Given the description of an element on the screen output the (x, y) to click on. 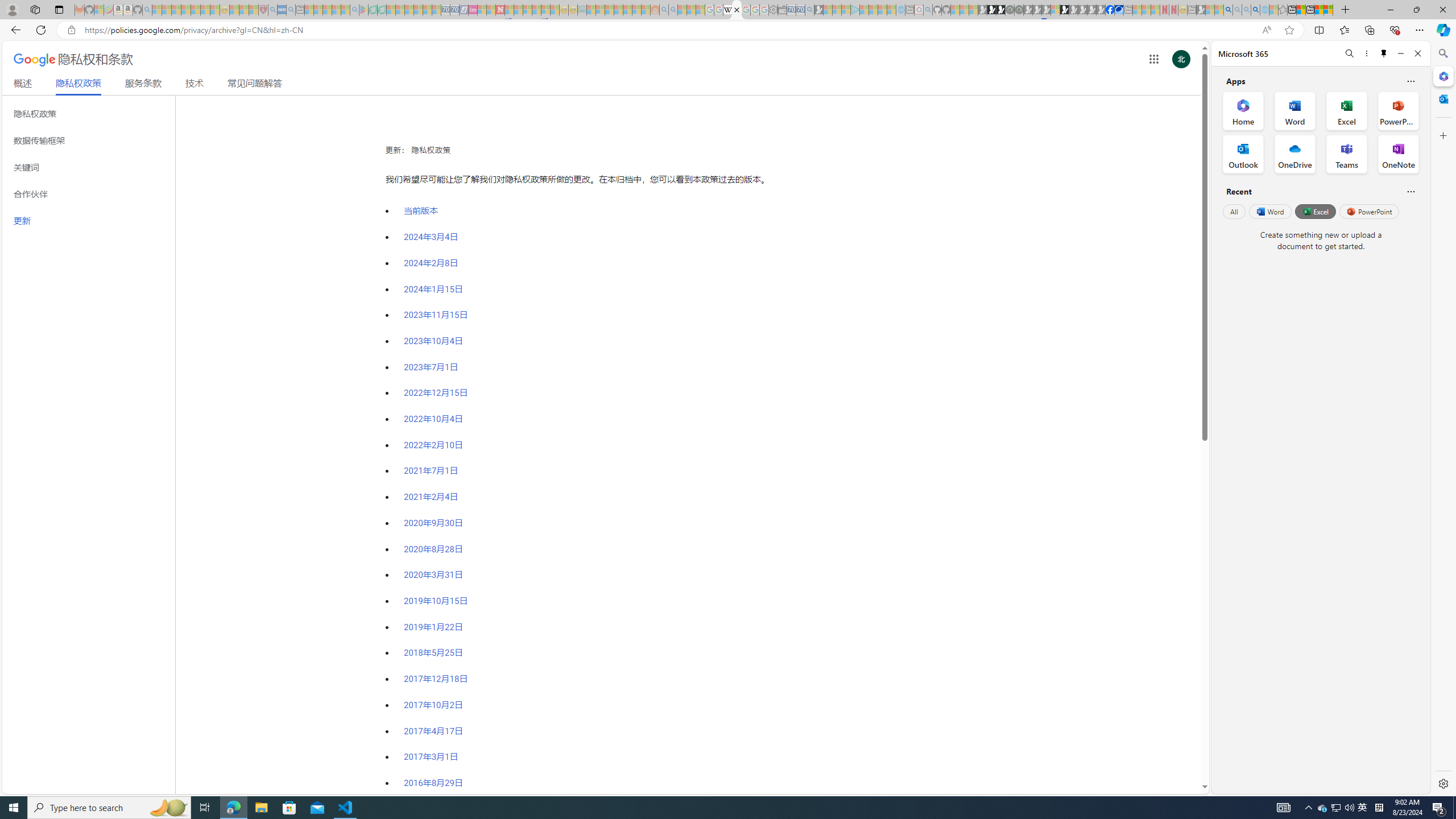
Close Microsoft 365 pane (1442, 76)
Bing AI - Search (1227, 9)
Outlook Office App (1243, 154)
Microsoft Start Gaming - Sleeping (818, 9)
